Given the description of an element on the screen output the (x, y) to click on. 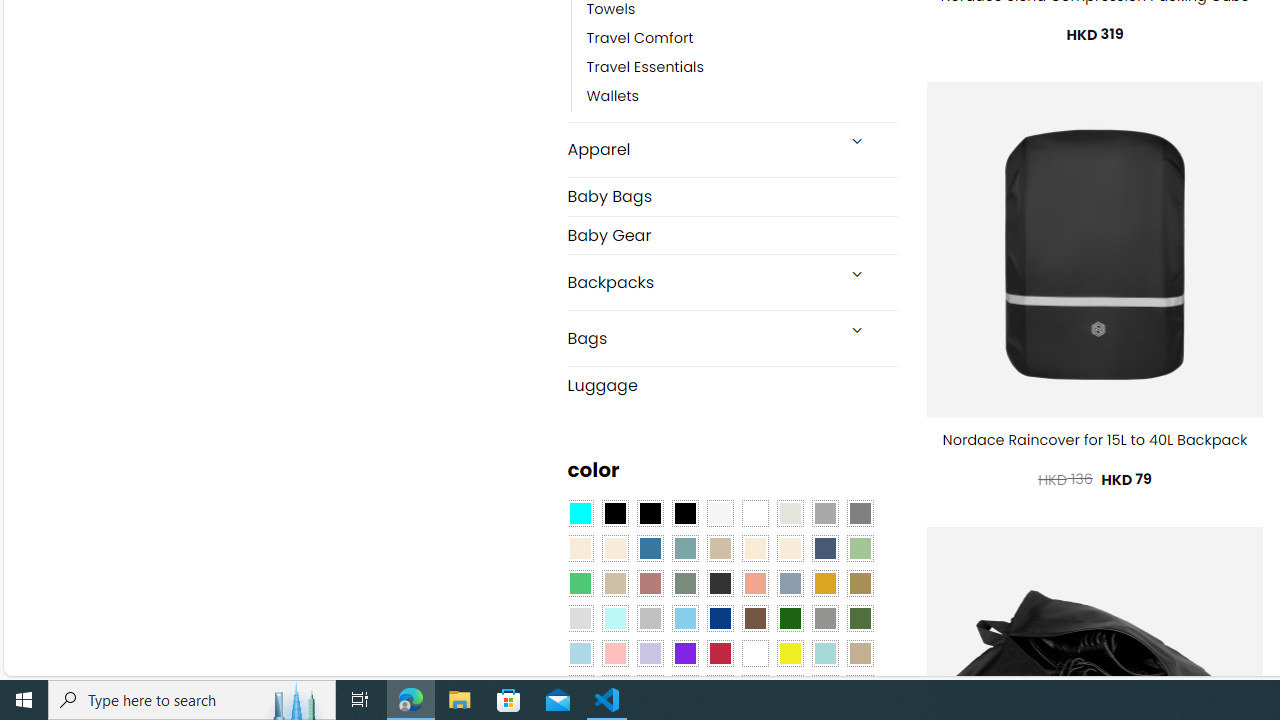
Aqua (824, 653)
Hale Navy (824, 548)
Ash Gray (789, 514)
All Black (614, 514)
Cream (789, 548)
